Given the description of an element on the screen output the (x, y) to click on. 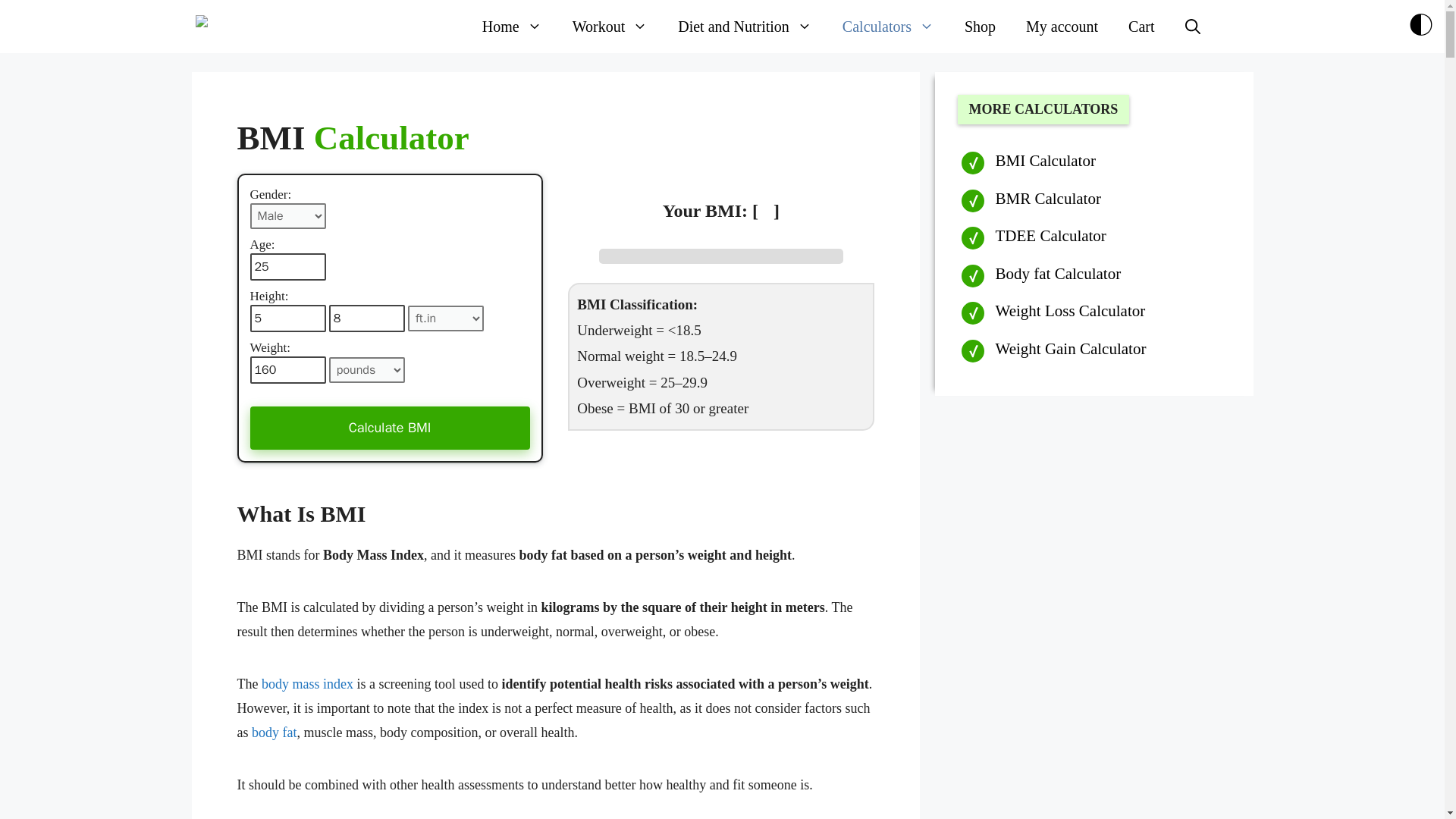
Home (512, 26)
body mass index (307, 683)
Workout (610, 26)
My account (1061, 26)
Diet and Nutrition (744, 26)
body fat (274, 732)
25 (288, 266)
Cart (1141, 26)
8 (366, 318)
Calculate BMI (389, 427)
160 (288, 370)
Calculators (888, 26)
Shop (979, 26)
5 (288, 318)
